Given the description of an element on the screen output the (x, y) to click on. 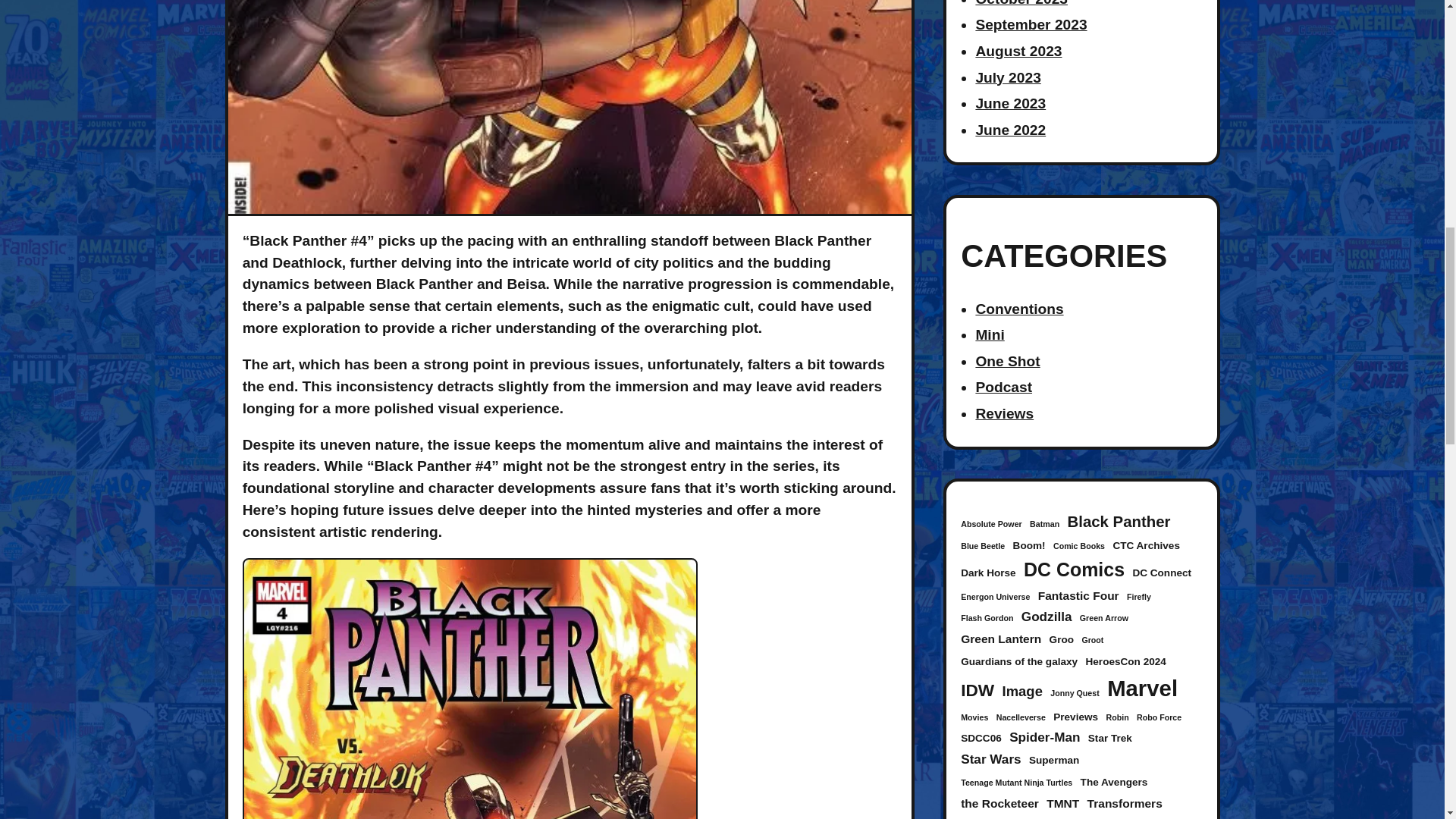
September 2023 (1030, 24)
October 2023 (1021, 3)
